Given the description of an element on the screen output the (x, y) to click on. 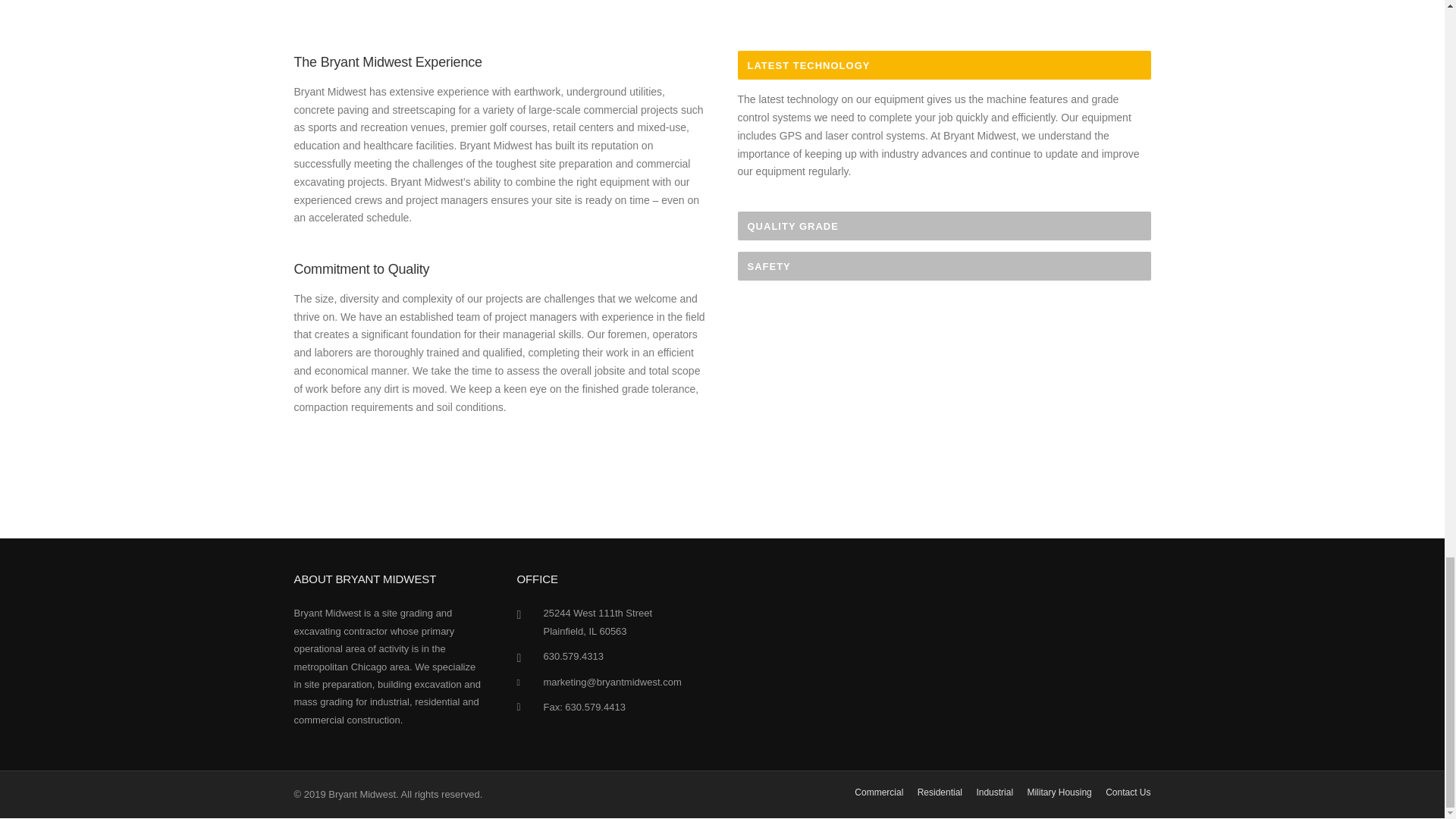
Military Housing (1058, 791)
Contact Us (1127, 791)
Industrial (994, 791)
Commercial (878, 791)
LATEST TECHNOLOGY (943, 64)
QUALITY GRADE (943, 225)
SAFETY (943, 265)
Residential (939, 791)
